Given the description of an element on the screen output the (x, y) to click on. 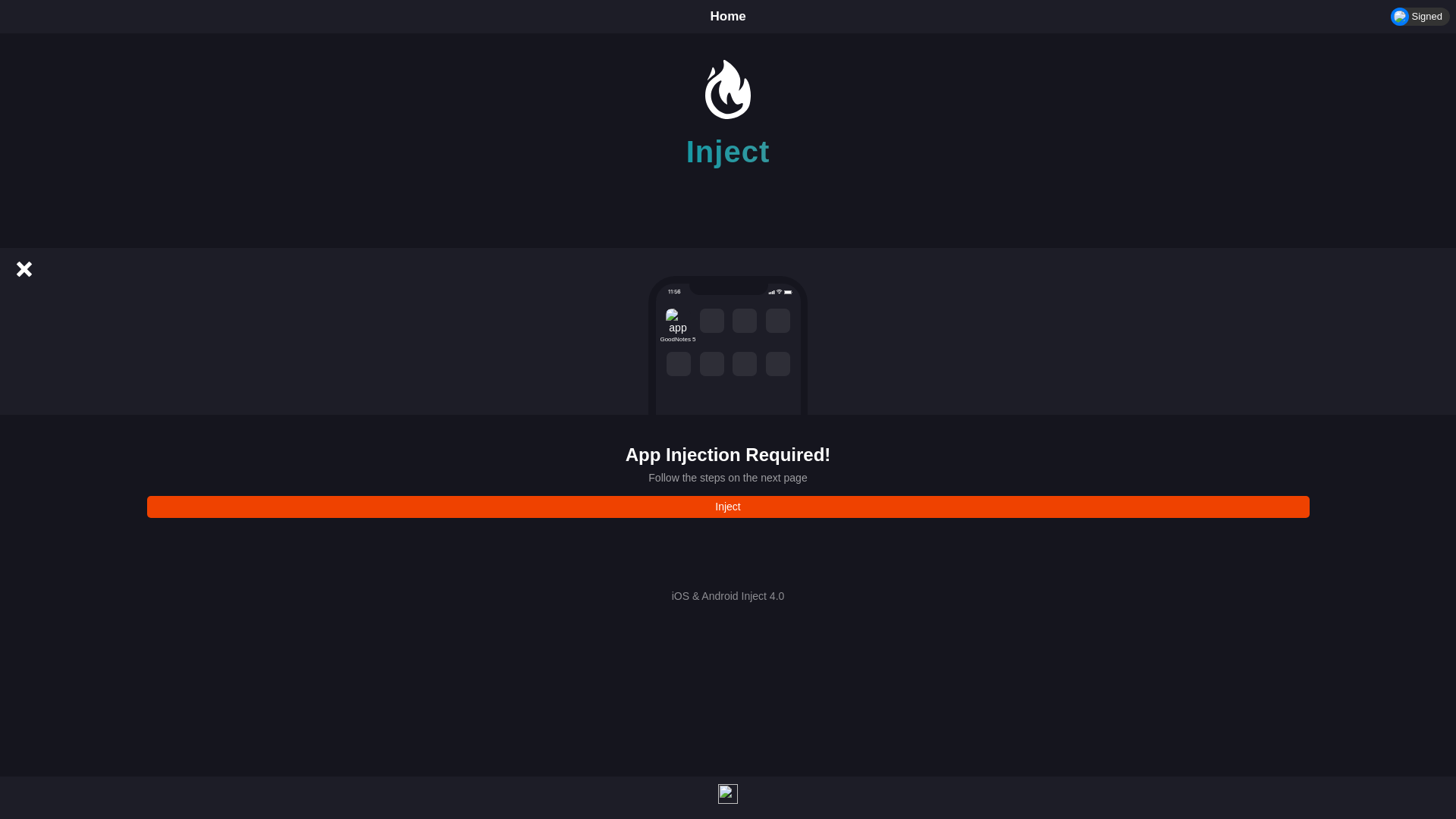
Inject Element type: text (728, 506)
